Given the description of an element on the screen output the (x, y) to click on. 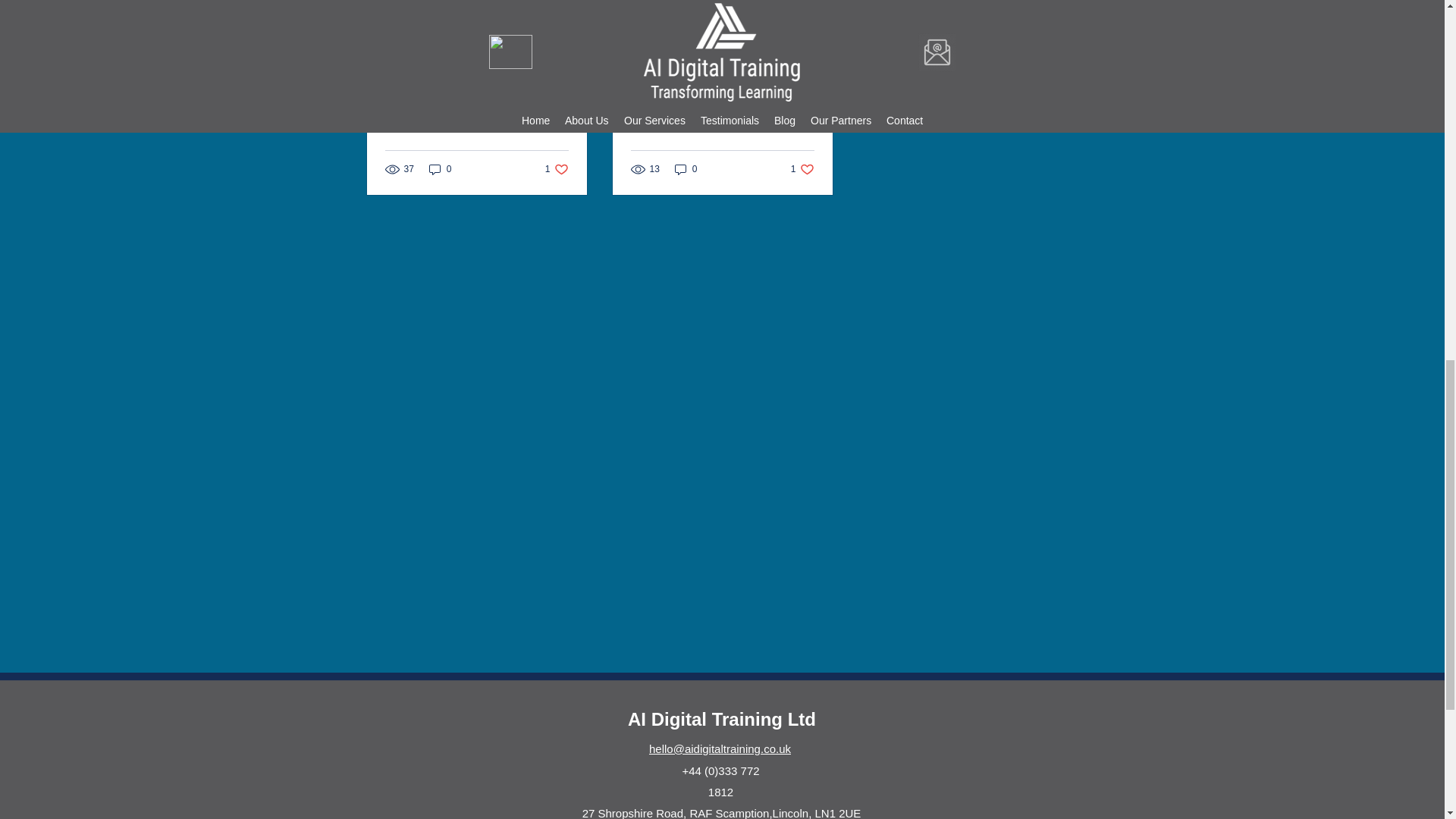
How to fix your data with Flash Fill (556, 169)
0 (721, 16)
How to break down a formula in Excel (801, 169)
0 (685, 169)
